Given the description of an element on the screen output the (x, y) to click on. 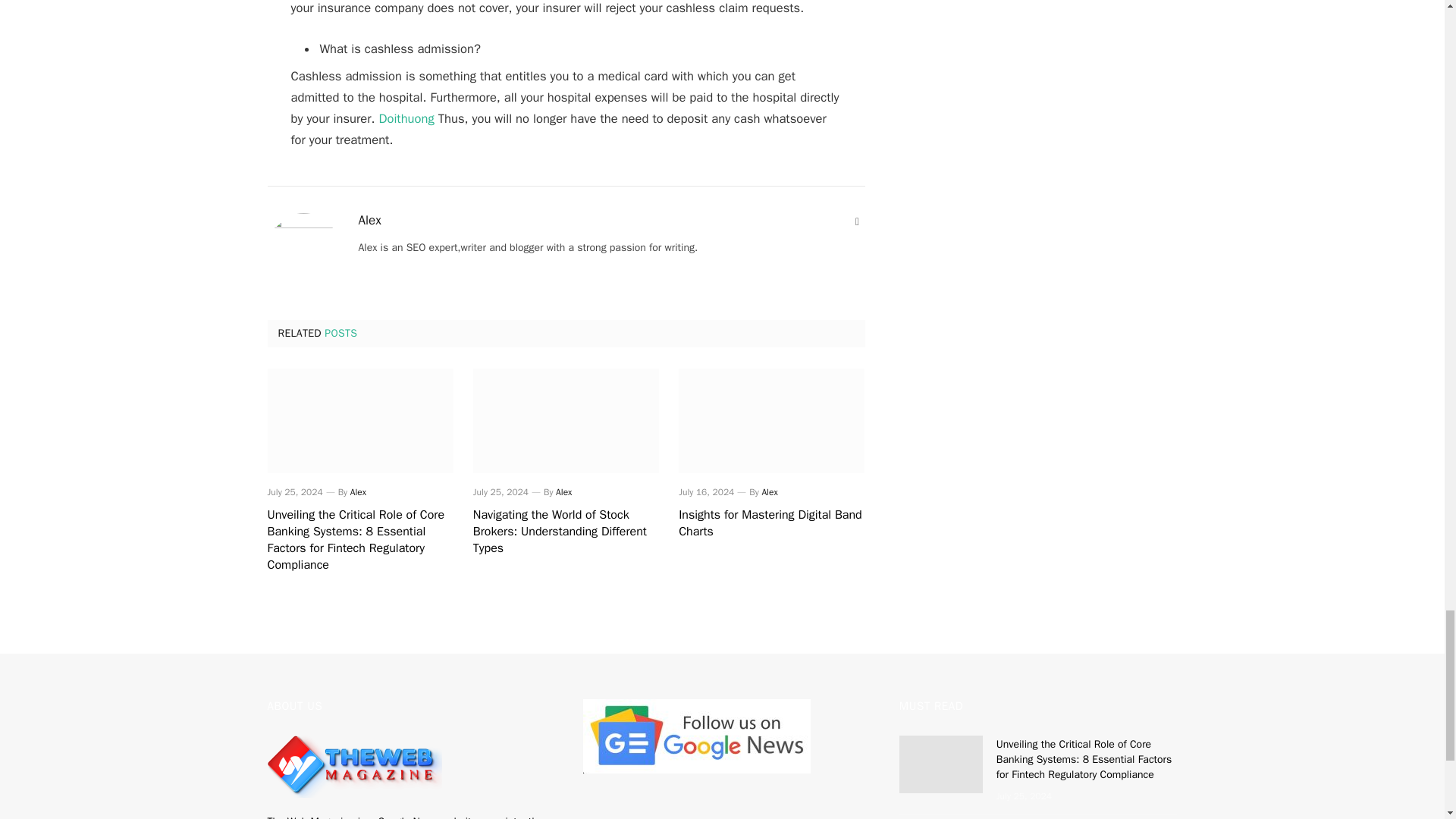
Alex (369, 220)
Posts by Alex (369, 220)
Website (856, 222)
Alex (358, 491)
Posts by Alex (564, 491)
Doithuong (405, 118)
Alex (769, 491)
Website (856, 222)
Insights for Mastering Digital Band Charts (771, 523)
Posts by Alex (358, 491)
Alex (564, 491)
